Given the description of an element on the screen output the (x, y) to click on. 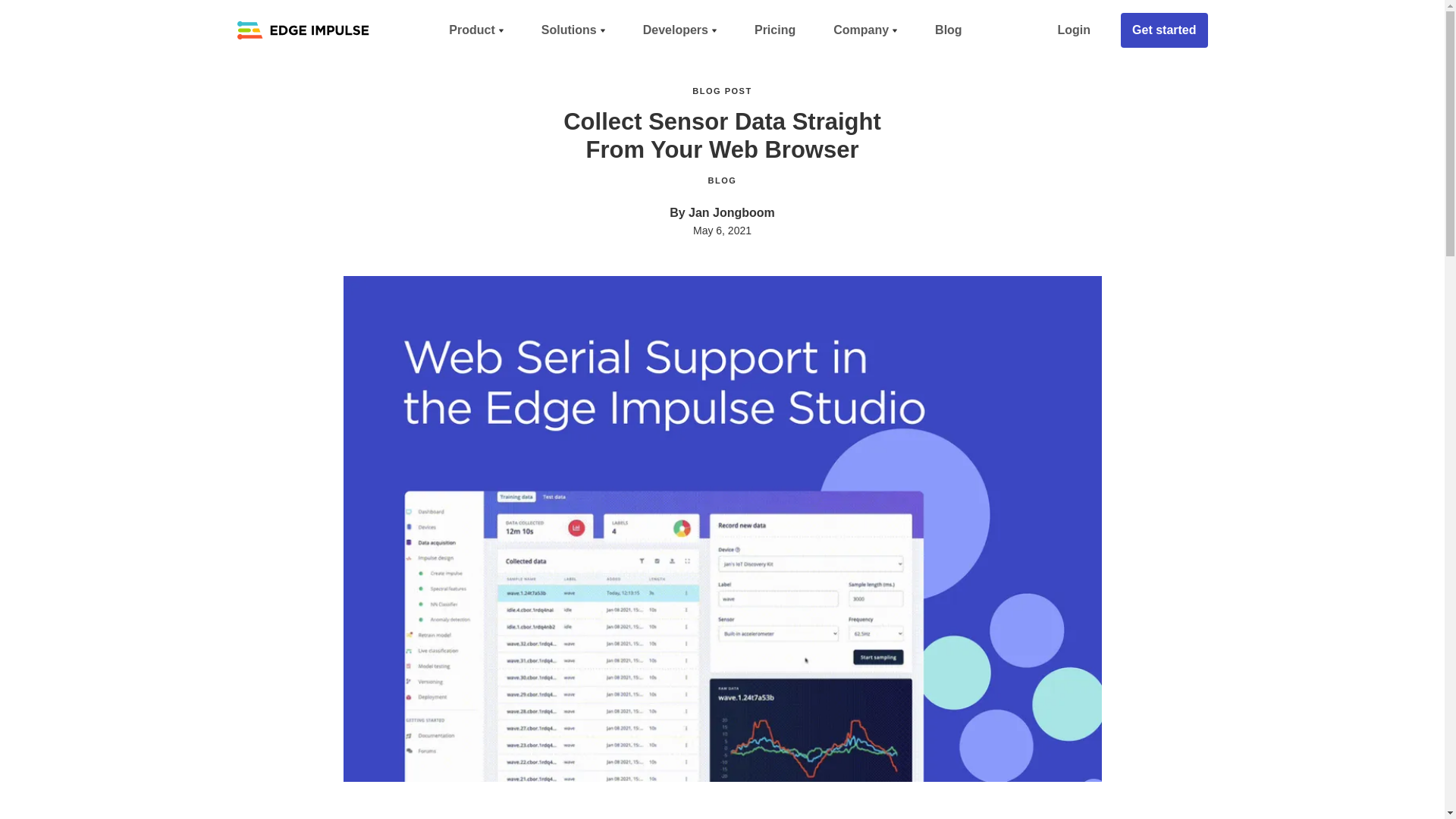
Pricing (774, 30)
Company (865, 30)
Product (475, 30)
Developers (679, 30)
Solutions (572, 30)
